Given the description of an element on the screen output the (x, y) to click on. 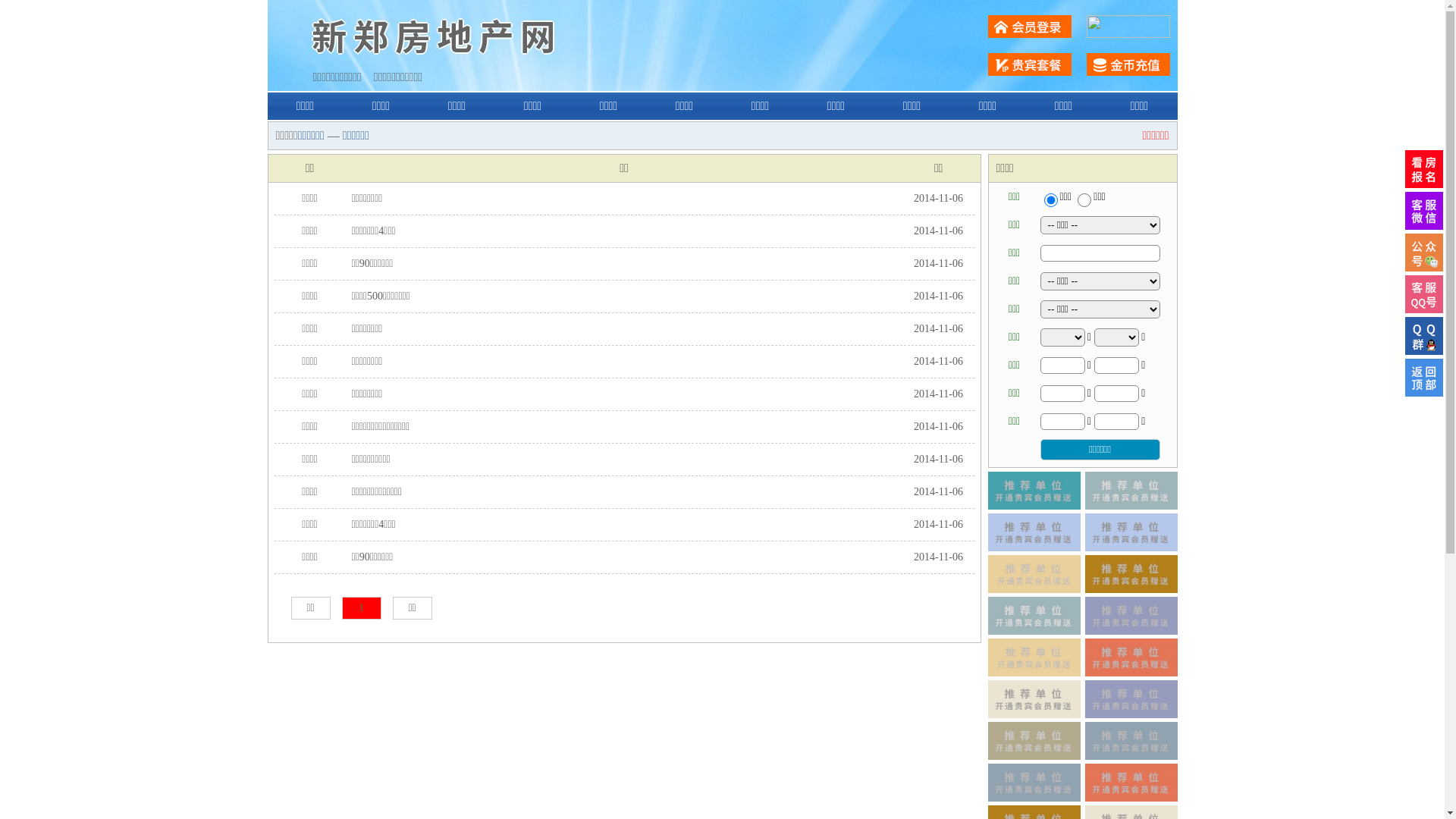
ershou Element type: text (1050, 200)
chuzu Element type: text (1084, 200)
1 Element type: text (360, 607)
